Given the description of an element on the screen output the (x, y) to click on. 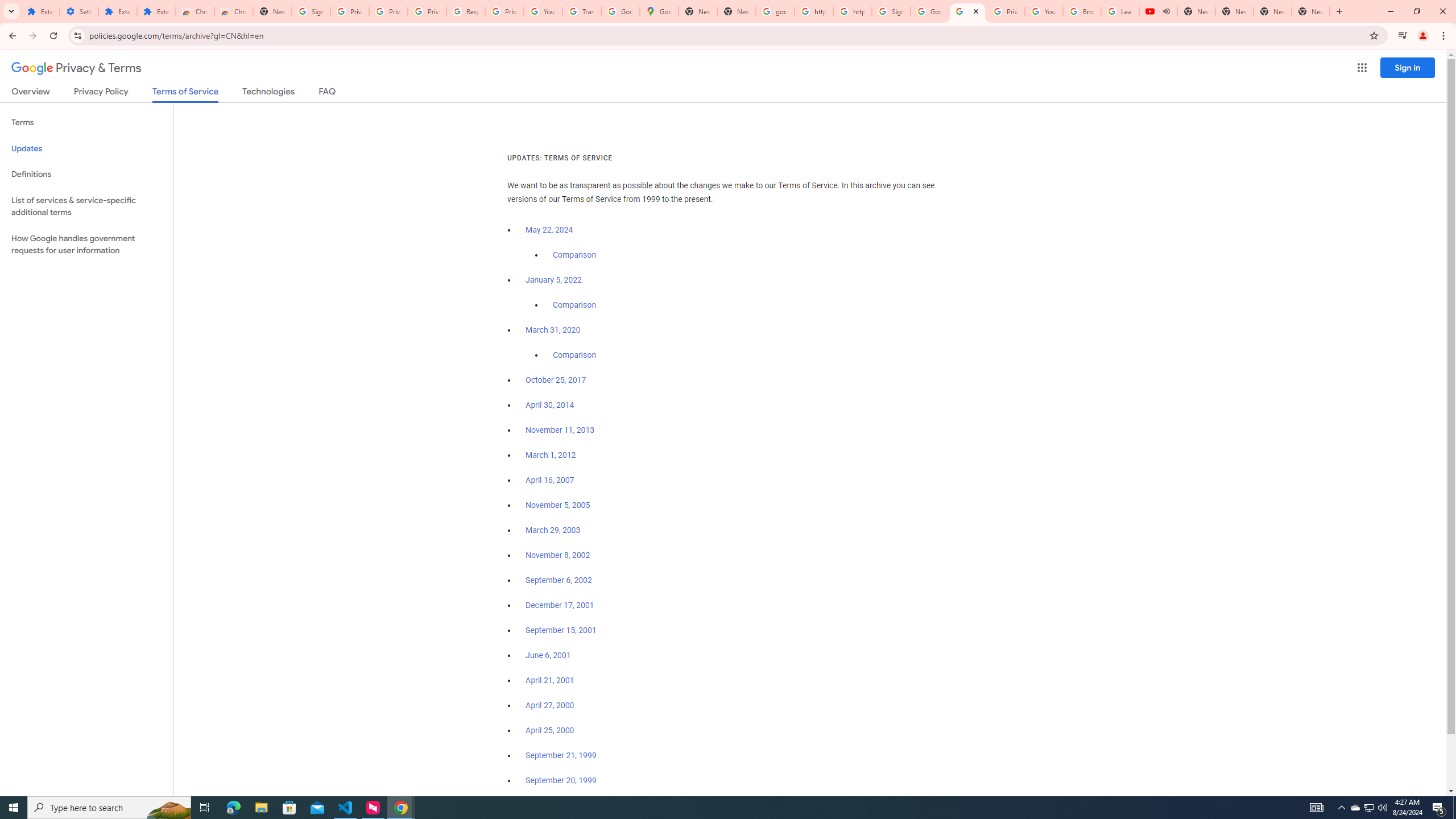
Comparison (574, 355)
Extensions (156, 11)
January 5, 2022 (553, 280)
List of services & service-specific additional terms (86, 206)
New Tab (272, 11)
March 31, 2020 (552, 330)
April 21, 2001 (550, 679)
